Given the description of an element on the screen output the (x, y) to click on. 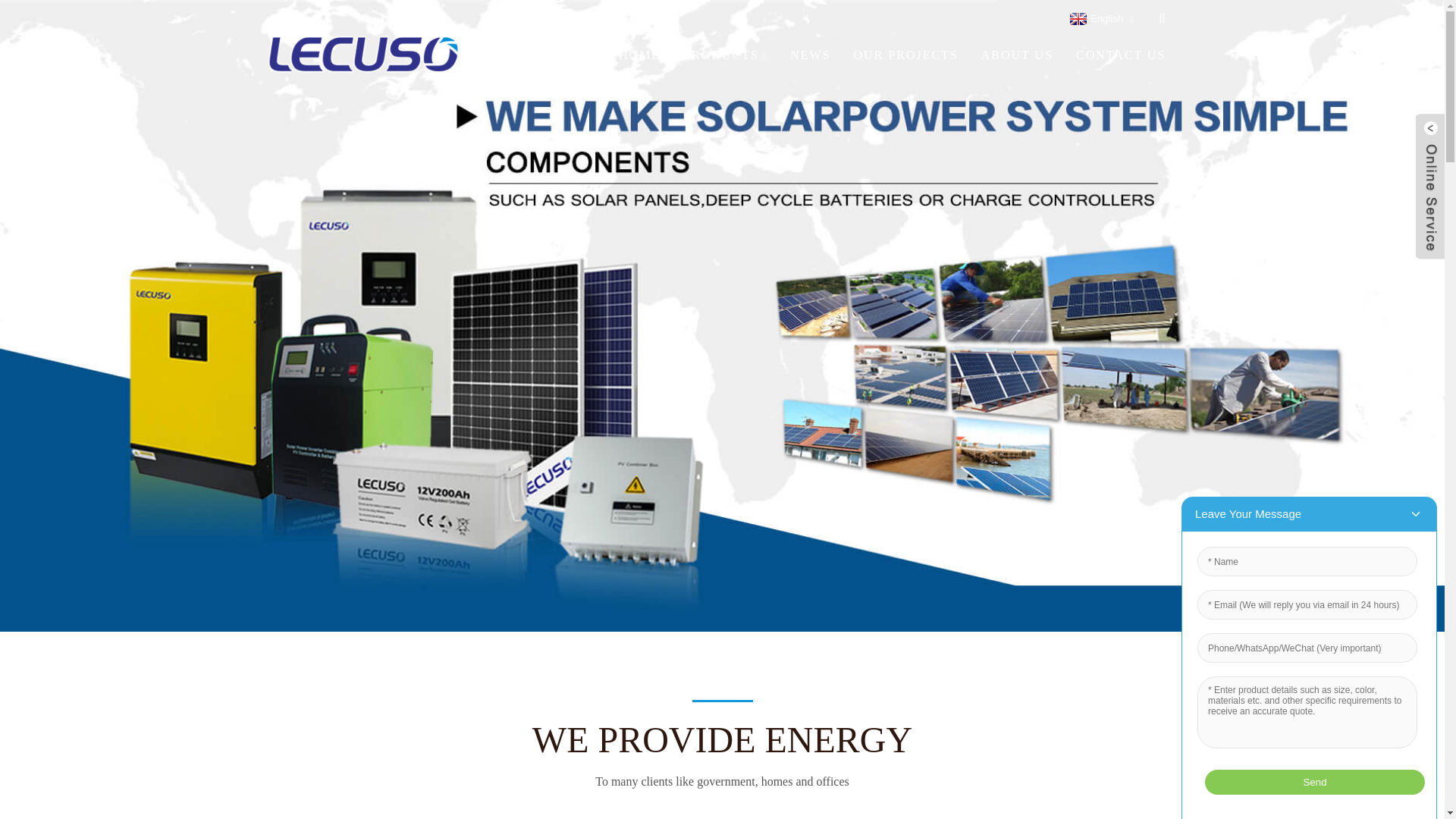
NEWS (809, 55)
OUR PROJECTS (905, 55)
HOME (639, 55)
WE PROVIDE ENERGY (722, 739)
English (1094, 19)
ABOUT US (1016, 55)
CONTACT US (1120, 55)
PRODUCTS (724, 55)
